Given the description of an element on the screen output the (x, y) to click on. 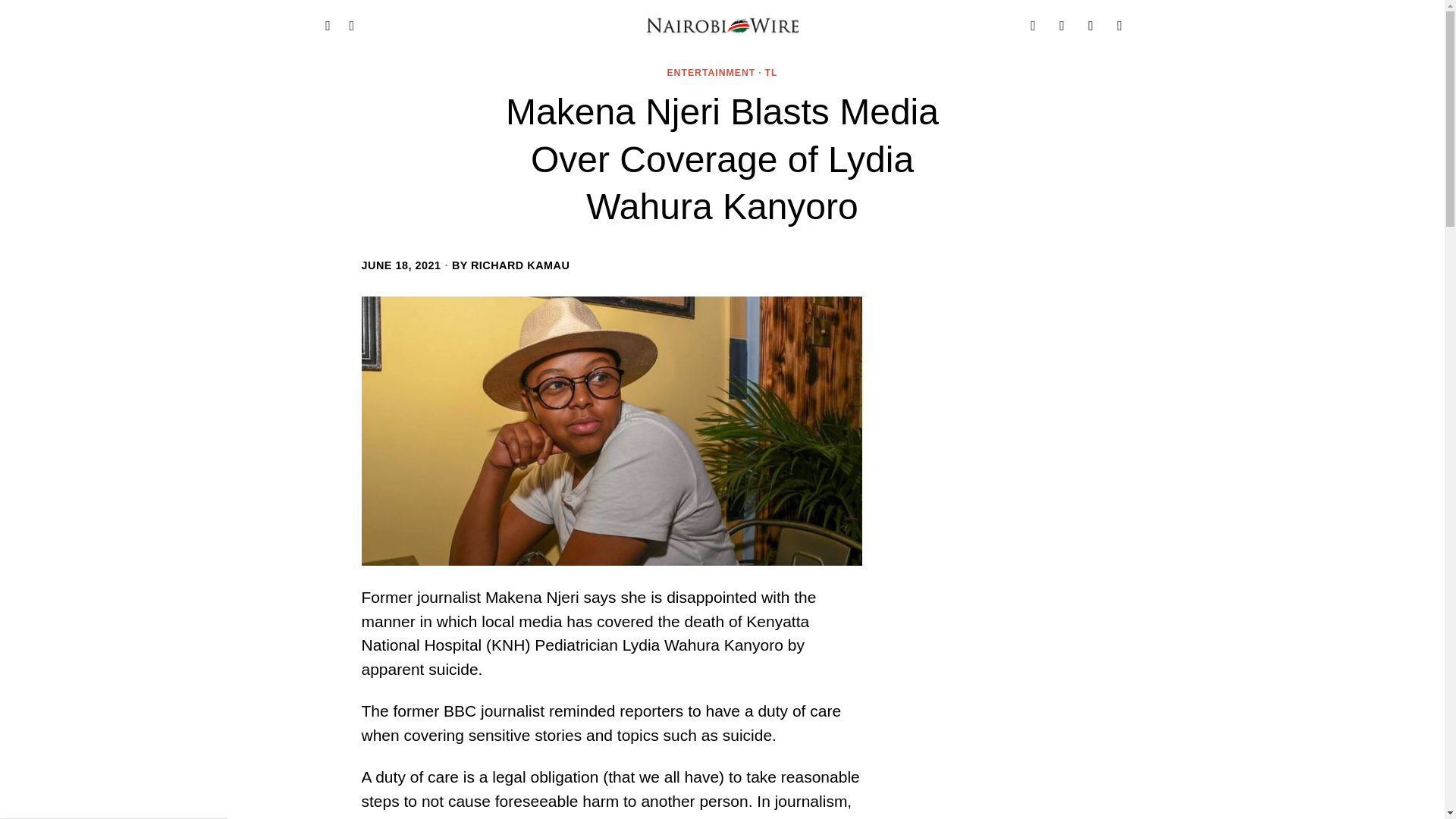
TL (771, 73)
RICHARD KAMAU (519, 264)
ENTERTAINMENT (710, 73)
18 Jun, 2021 06:53:41 (401, 264)
